Given the description of an element on the screen output the (x, y) to click on. 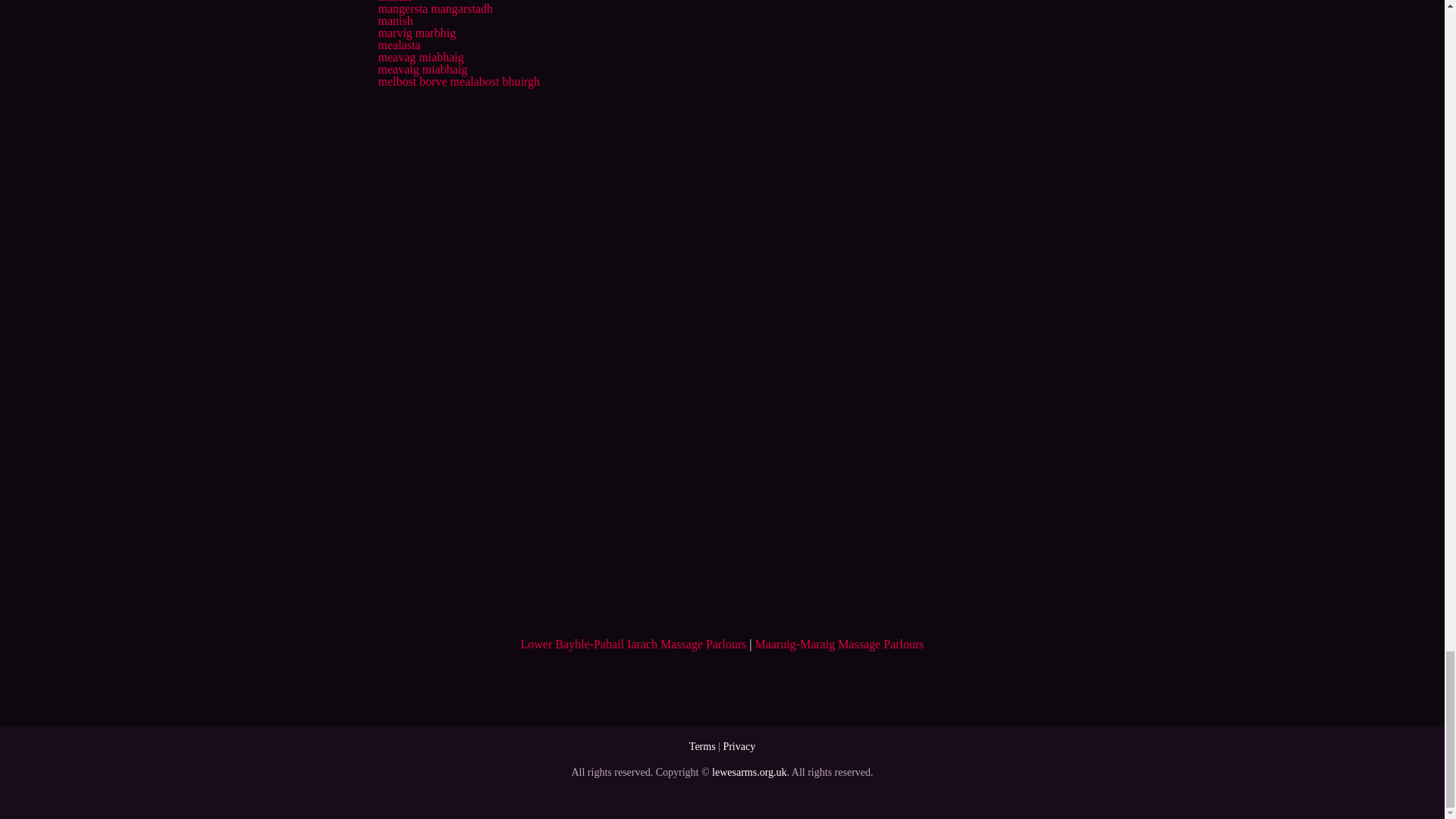
Terms (702, 746)
Lower Bayble-Pabail Iarach Massage Parlours (633, 644)
melbost borve mealabost bhuirgh (457, 81)
marvig marbhig (416, 32)
manish (394, 20)
Maaruig-Maraig Massage Parlours (838, 644)
lewesarms.org.uk (749, 772)
Terms (702, 746)
Privacy (738, 746)
Privacy (738, 746)
